Given the description of an element on the screen output the (x, y) to click on. 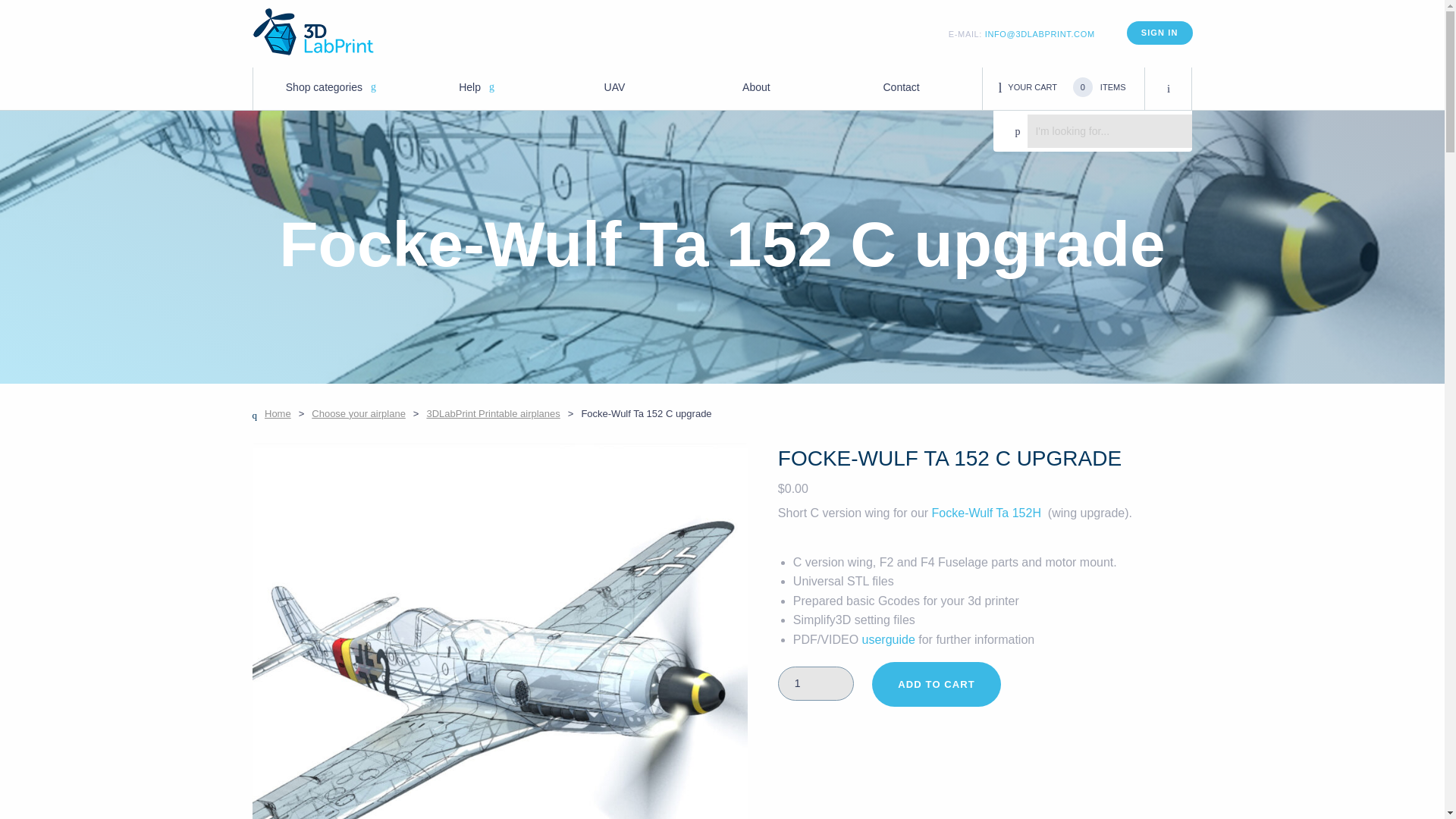
3DLabPrint Printable airplanes (492, 413)
UAV (615, 86)
SIGN IN (1159, 33)
I'm looking for... (1109, 130)
Focke-Wulf Ta 152H (988, 512)
3DLabPrint (311, 31)
1 (815, 683)
Shop categories (323, 86)
Contact (900, 86)
Help (469, 86)
YOUR CART 0 ITEMS (1086, 87)
userguide (888, 639)
Choose your airplane (358, 413)
About (756, 86)
Home (270, 413)
